Given the description of an element on the screen output the (x, y) to click on. 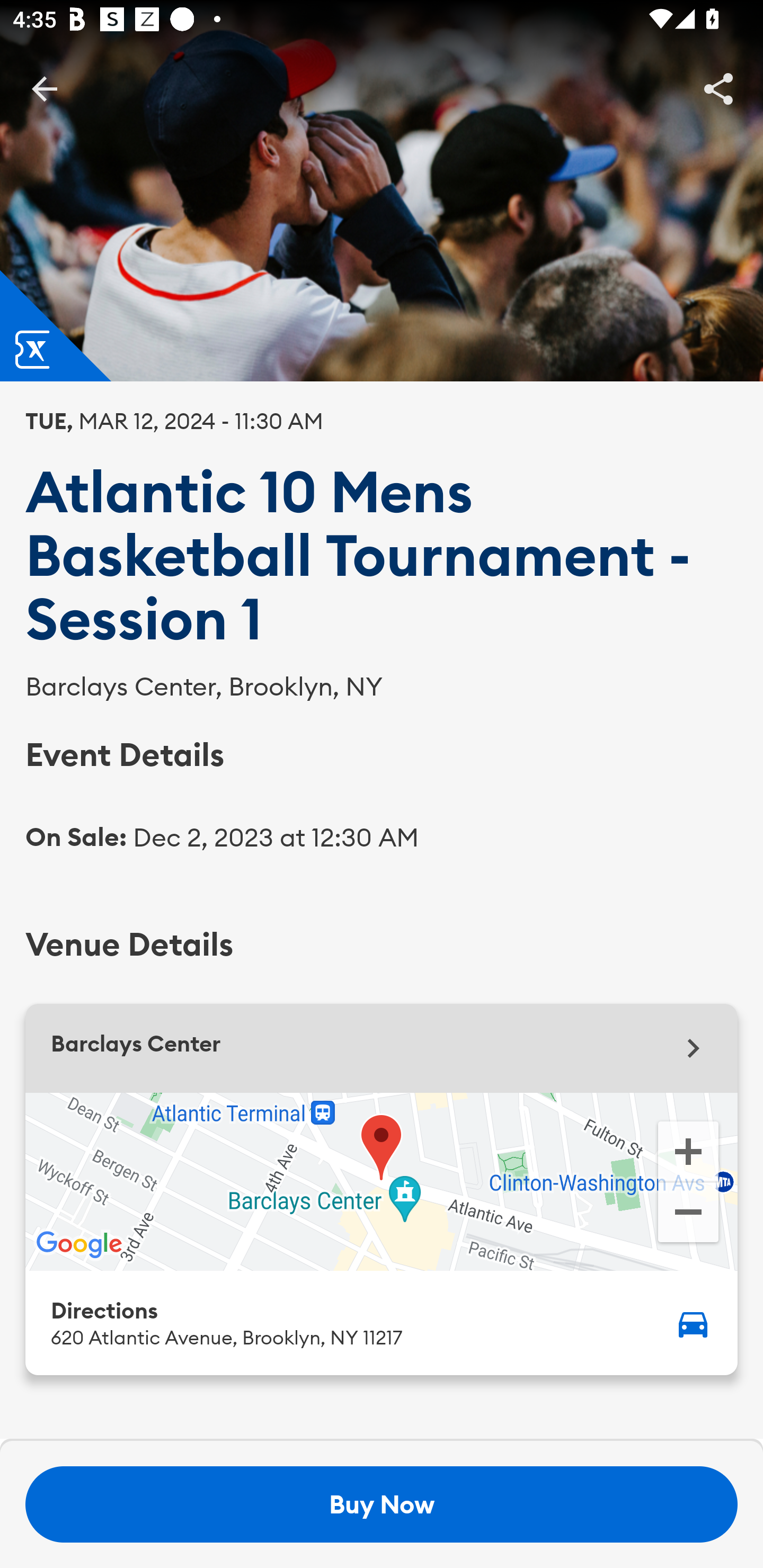
BackButton (44, 88)
Share (718, 88)
Barclays Center (381, 1047)
Google Map Barclays Center.  Zoom in Zoom out (381, 1181)
Zoom in (687, 1149)
Zoom out (687, 1214)
Directions 620 Atlantic Avenue, Brooklyn, NY 11217 (381, 1322)
Buy Now (381, 1504)
